Given the description of an element on the screen output the (x, y) to click on. 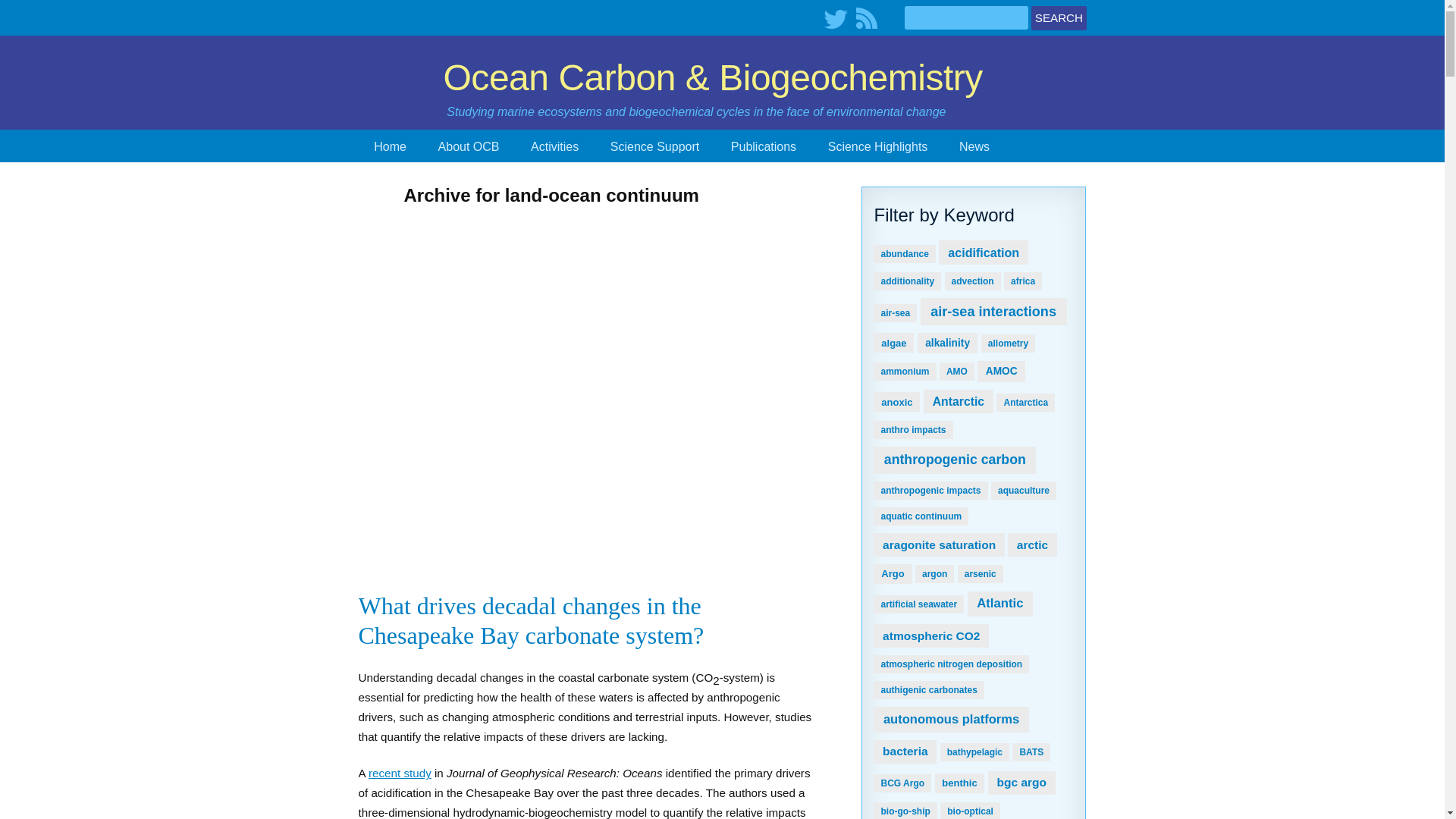
Home (390, 145)
Search (1058, 17)
Activities (554, 145)
Search (1058, 17)
About OCB (468, 145)
